Given the description of an element on the screen output the (x, y) to click on. 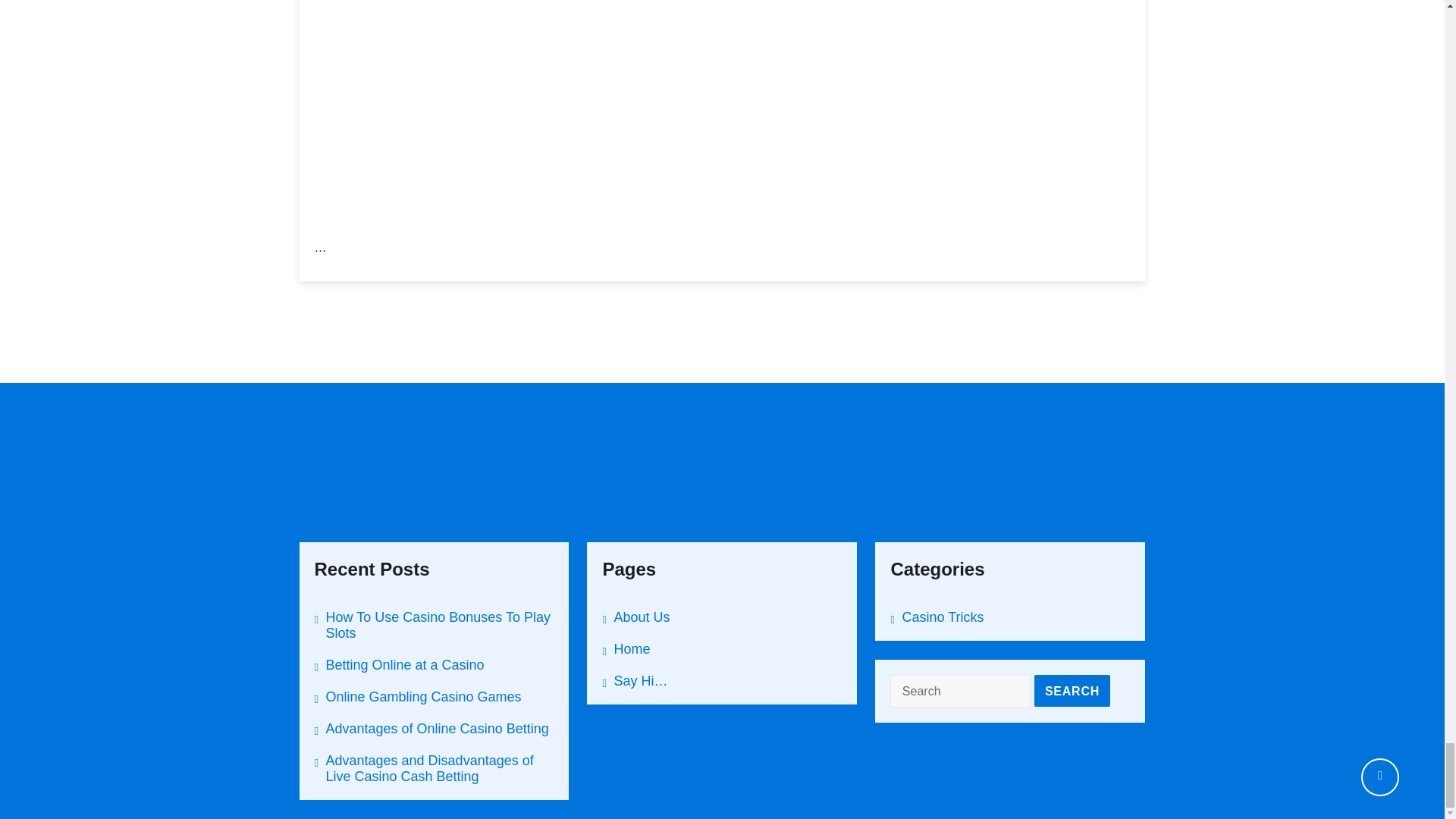
Search (1071, 690)
Search (1071, 690)
